Given the description of an element on the screen output the (x, y) to click on. 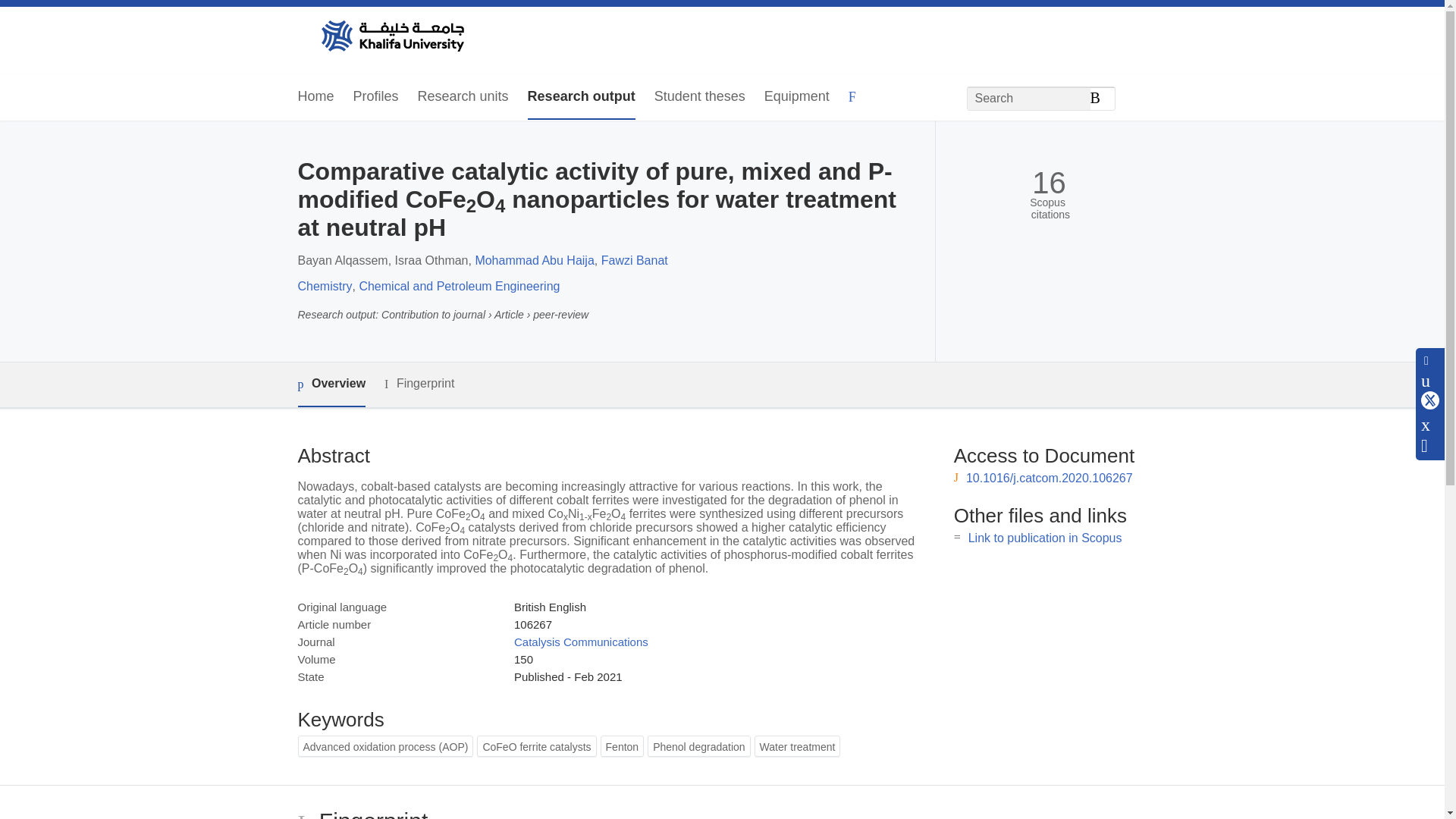
Equipment (796, 97)
Mohammad Abu Haija (534, 259)
Chemistry (324, 286)
Student theses (699, 97)
Fawzi Banat (634, 259)
Research units (462, 97)
Research output (580, 97)
Khalifa University Home (391, 37)
Profiles (375, 97)
